Given the description of an element on the screen output the (x, y) to click on. 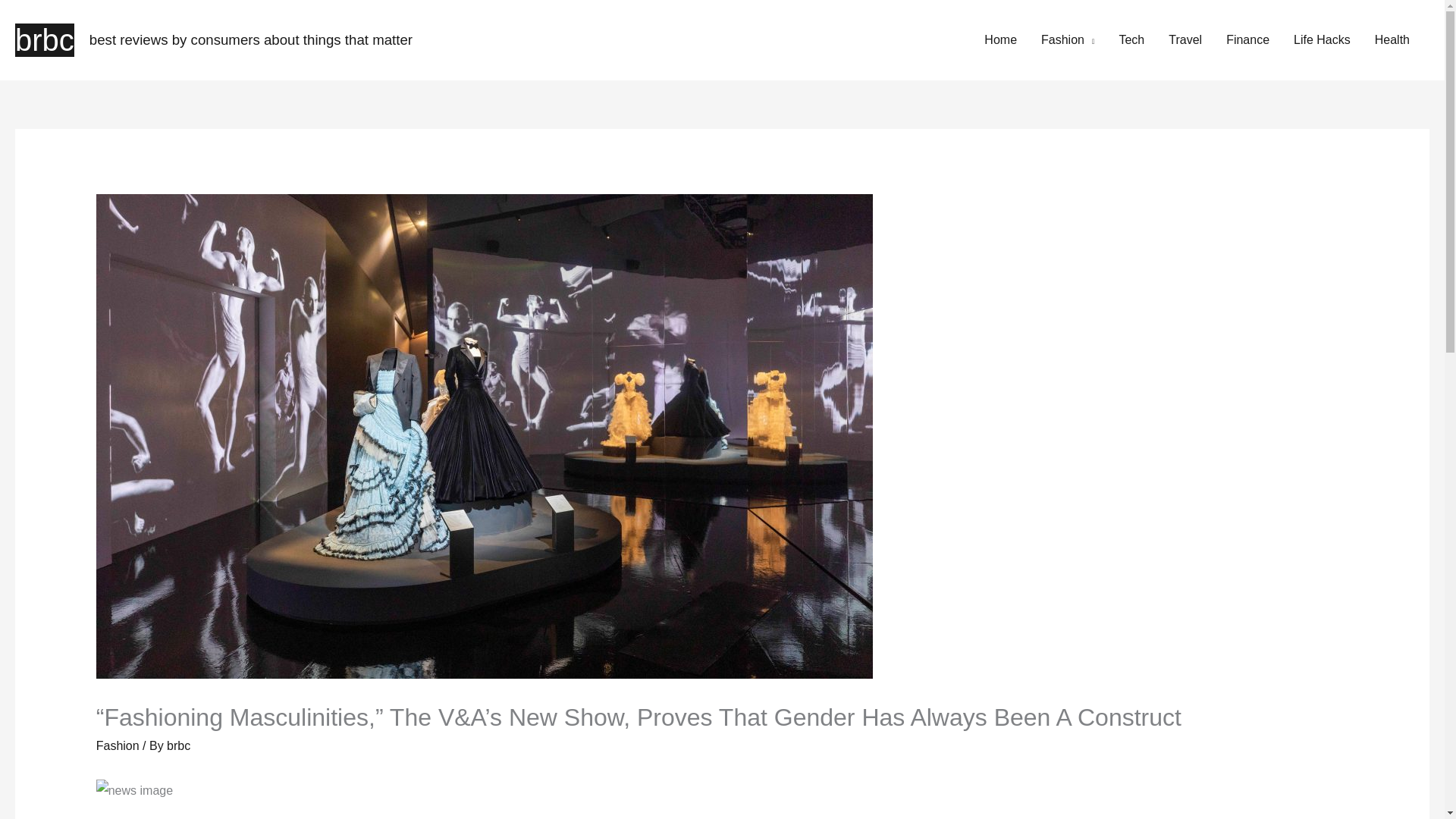
Travel (1185, 39)
Fashion (1067, 39)
Finance (1247, 39)
Tech (1131, 39)
Health (1392, 39)
Home (1000, 39)
Fashion (117, 744)
Life Hacks (1321, 39)
View all posts by brbc (178, 744)
brbc (178, 744)
